Given the description of an element on the screen output the (x, y) to click on. 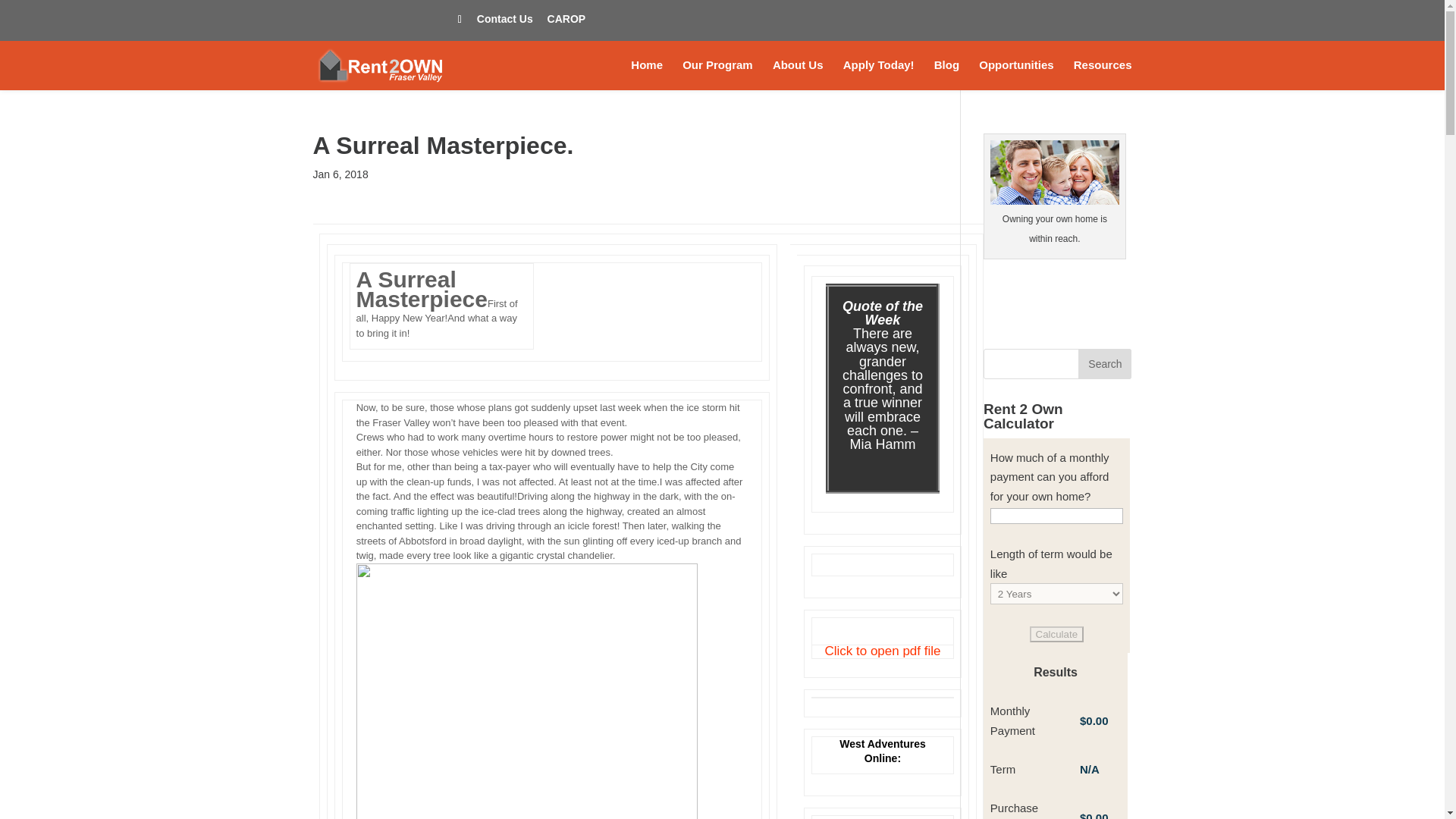
Resources (1103, 74)
Search (1104, 363)
Calculate (1056, 634)
Home (646, 74)
Click to open pdf file (882, 651)
CAROP (566, 22)
Apply Today! (878, 74)
Opportunities (1015, 74)
Our Program (717, 74)
Contact Us (504, 22)
About Us (798, 74)
